Given the description of an element on the screen output the (x, y) to click on. 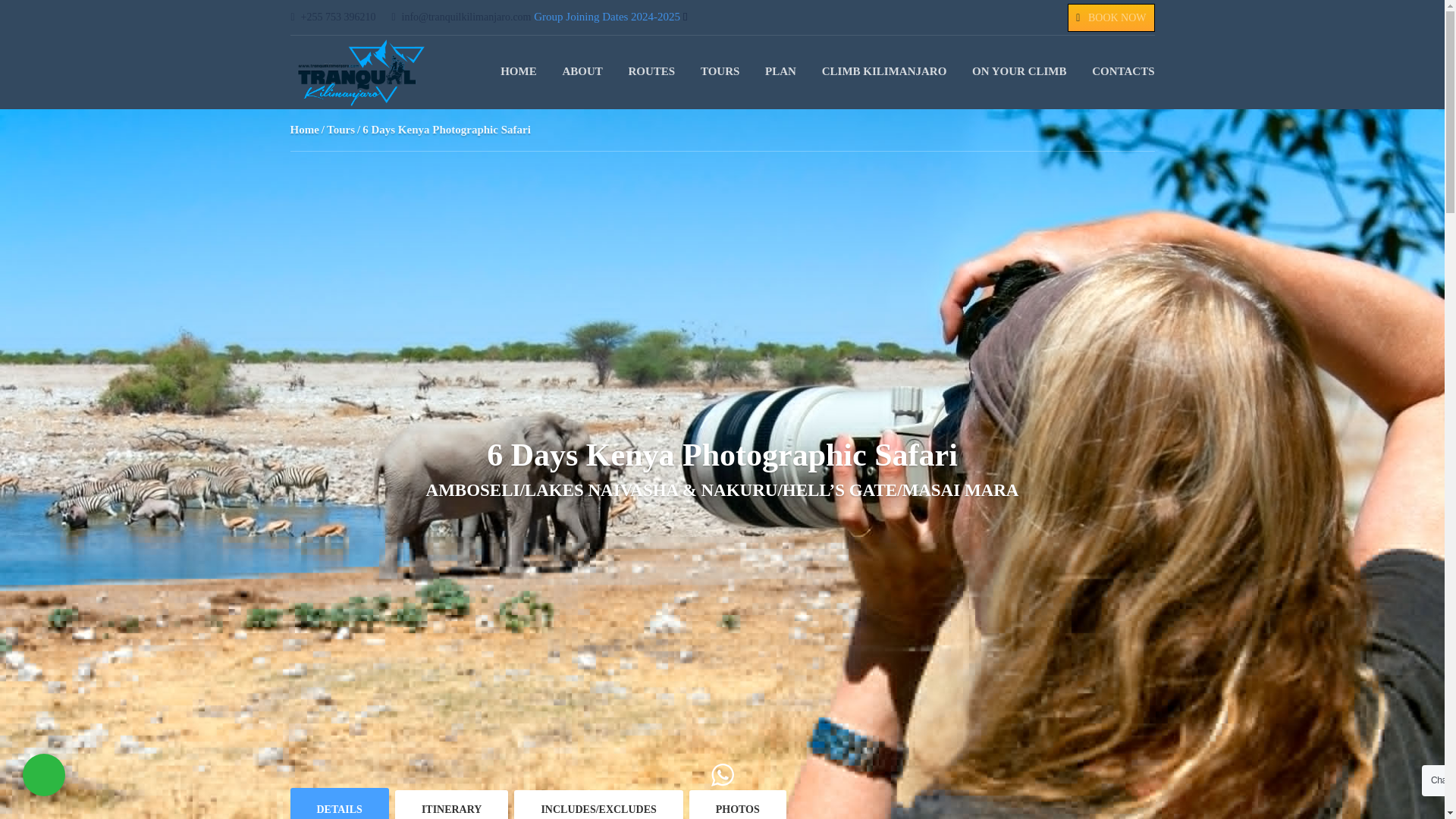
TOURS (719, 70)
HOME (518, 70)
BOOK NOW (1117, 17)
ABOUT (582, 70)
Group Joining Dates 2024-2025 (606, 16)
Mount Kilimanjaro Climbing Routes, Prices, Gear, Preparation (360, 72)
ROUTES (651, 70)
